Given the description of an element on the screen output the (x, y) to click on. 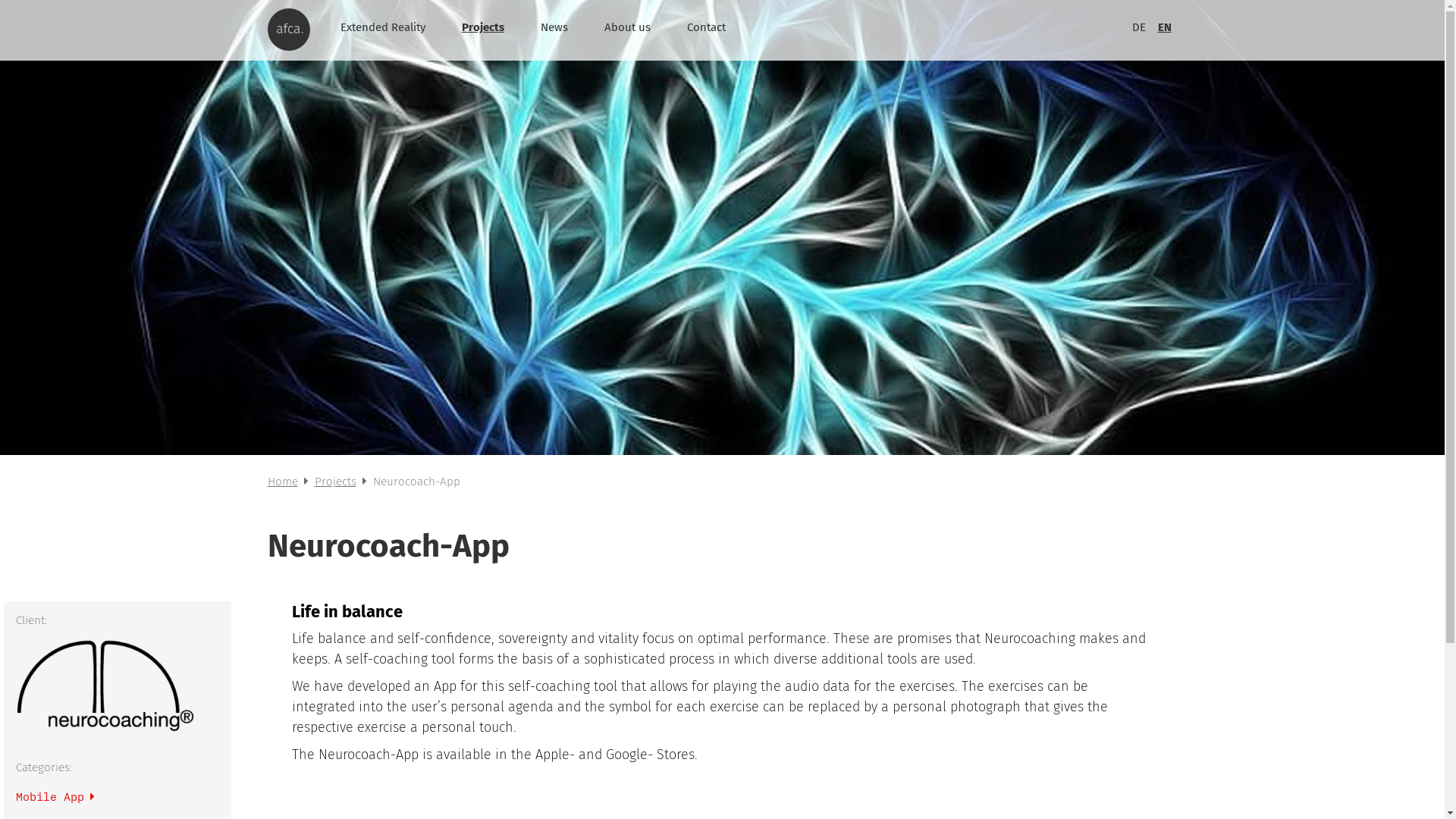
Facebook Element type: hover (1071, 758)
EN Element type: text (1163, 27)
DE Element type: text (1138, 27)
Extended Reality Element type: text (381, 27)
Twitter Element type: hover (1100, 758)
Instagram Element type: hover (1128, 758)
Mobile App Element type: text (54, 795)
Projects Element type: text (482, 27)
Privacy Policy Element type: text (852, 757)
afca. ag
Industriestrasse 35
3052 Zollikofen Element type: text (323, 733)
LinkedIn Element type: hover (1155, 758)
News Element type: text (553, 27)
Home Element type: text (281, 481)
YouTube Element type: hover (1041, 758)
About us Element type: text (626, 27)
0848 23 22 24 Element type: text (671, 757)
Contact Element type: text (705, 27)
Projects Element type: text (334, 481)
info@afca.ch Element type: text (671, 732)
